Given the description of an element on the screen output the (x, y) to click on. 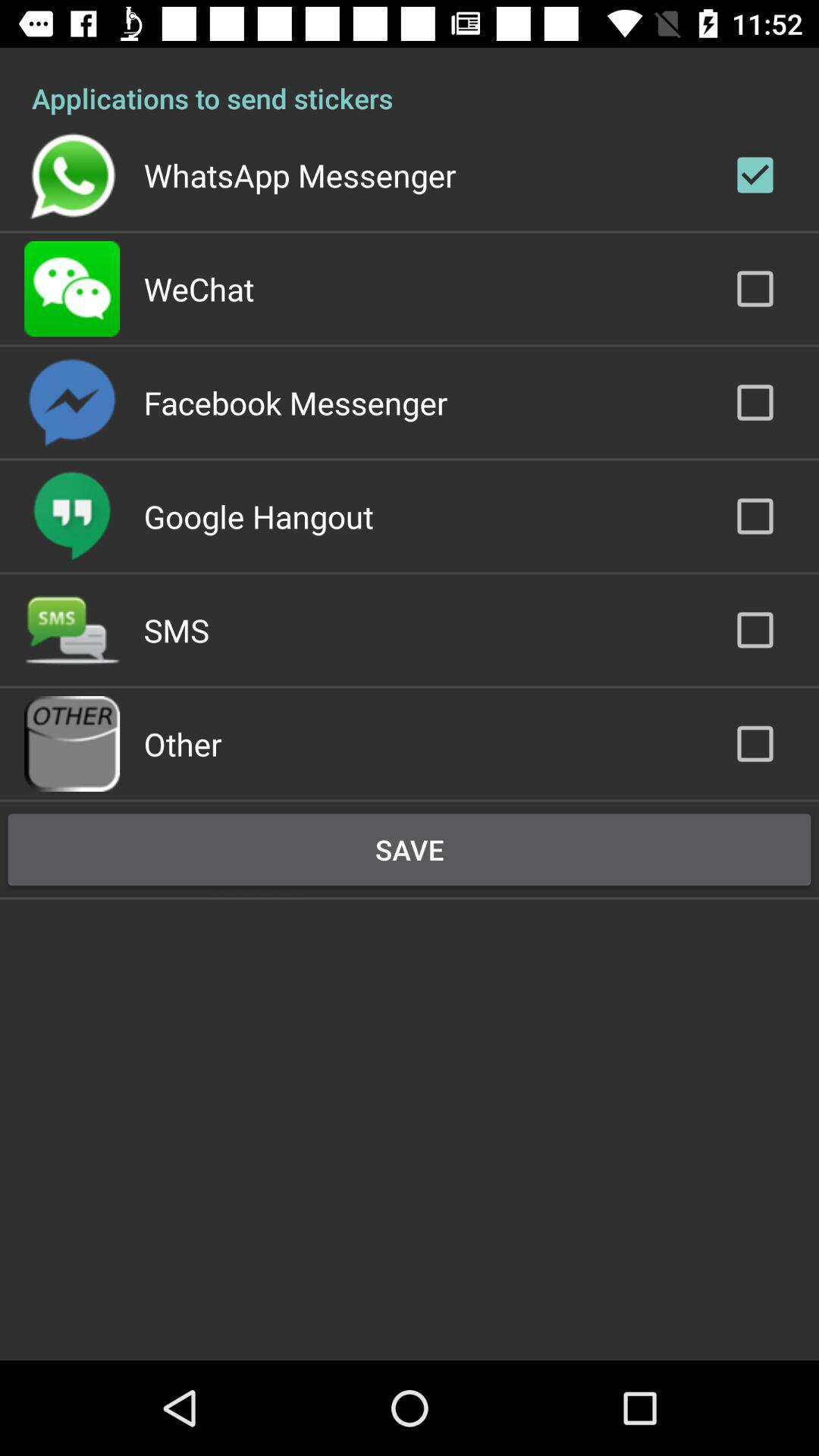
tap the icon below the facebook messenger app (258, 516)
